Given the description of an element on the screen output the (x, y) to click on. 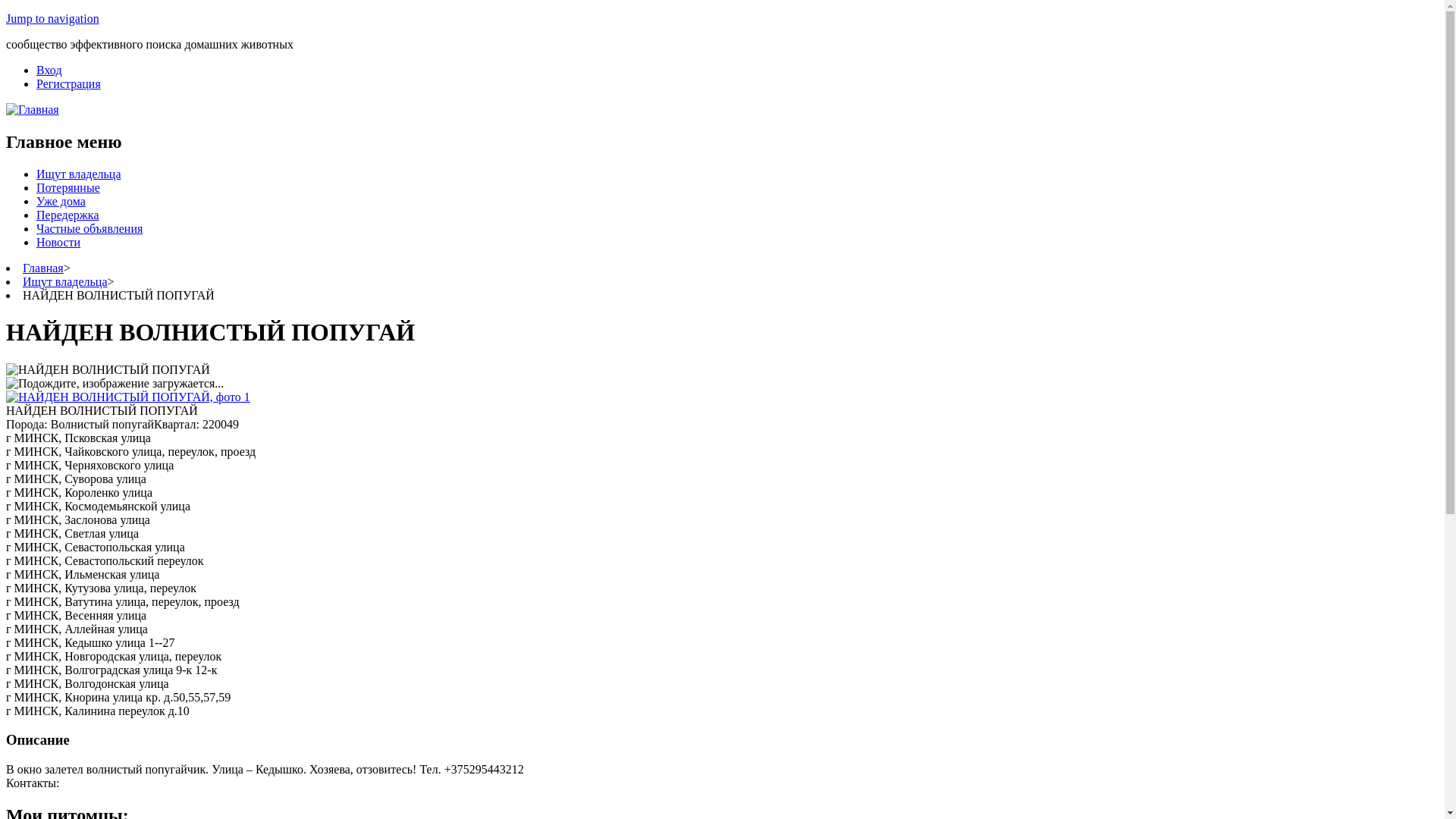
Jump to navigation Element type: text (52, 18)
